Given the description of an element on the screen output the (x, y) to click on. 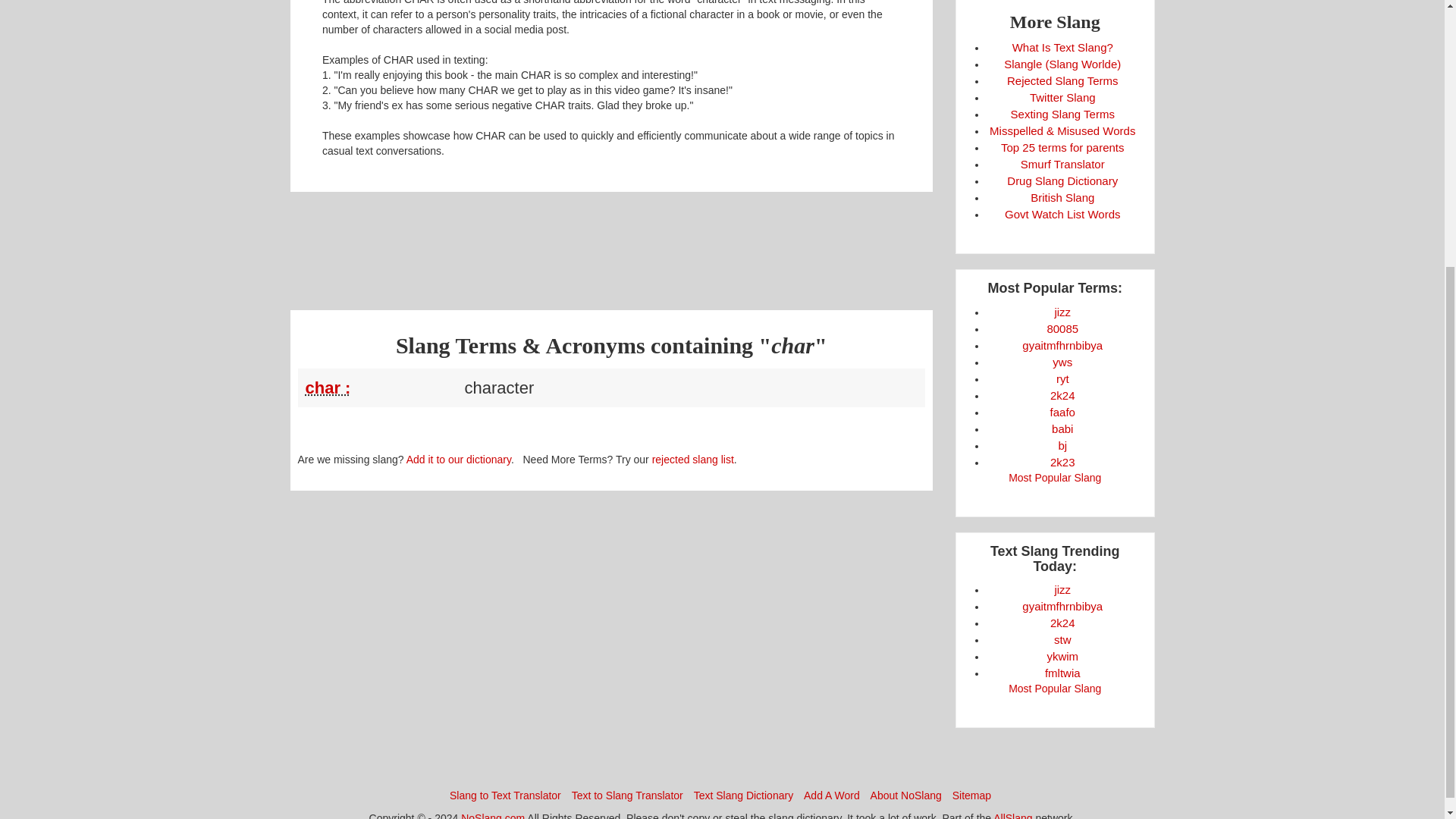
semen (1062, 589)
2024 (1062, 622)
2k23 (1062, 461)
Add it to our dictionary (458, 459)
you know what I mean (1062, 656)
baby (1062, 428)
Drug Slang Dictionary (1062, 180)
jizz (1062, 589)
2k24 (1062, 622)
Govt Watch List Words (1062, 214)
